Given the description of an element on the screen output the (x, y) to click on. 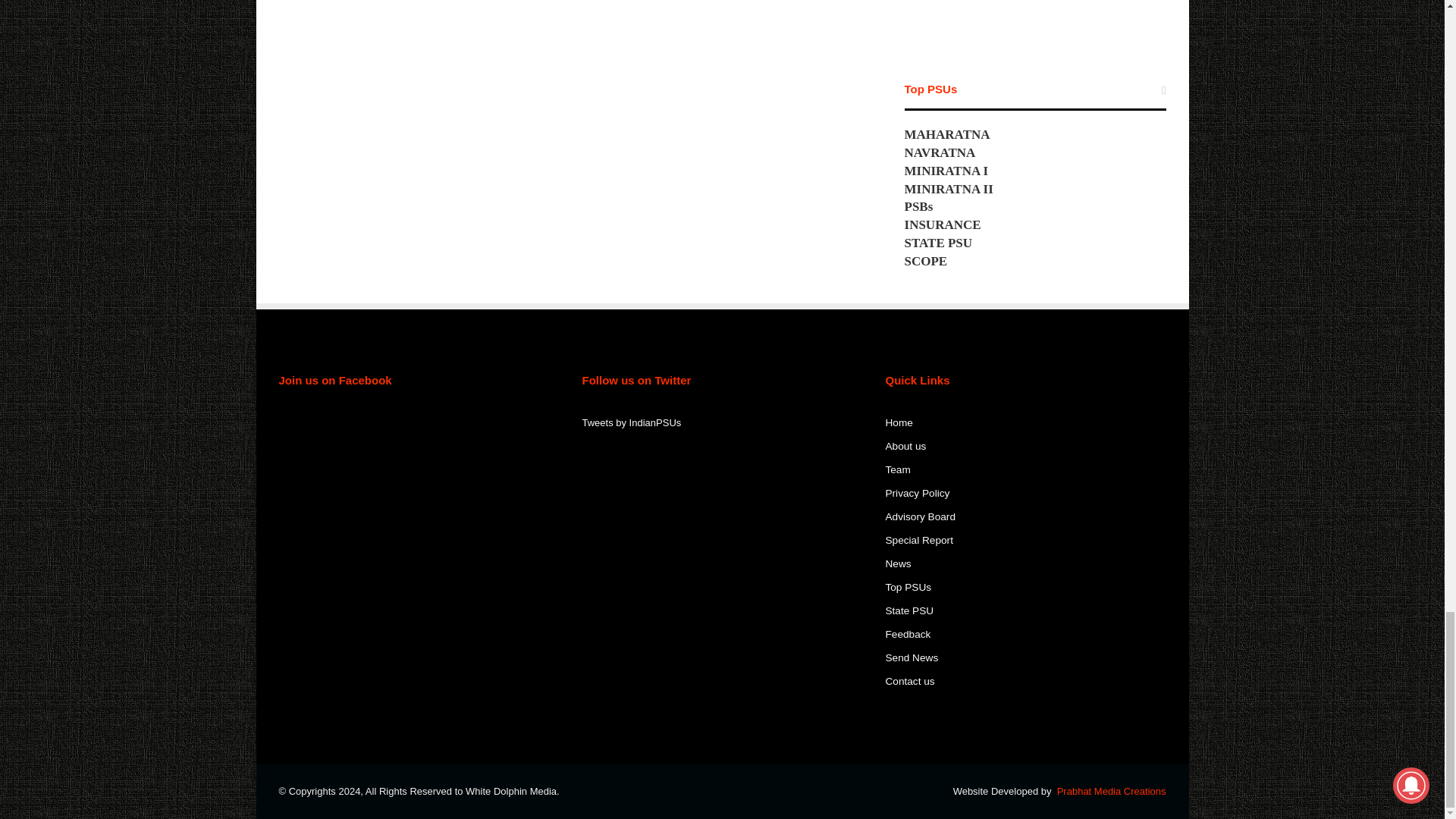
YouTube video player (1035, 21)
